Given the description of an element on the screen output the (x, y) to click on. 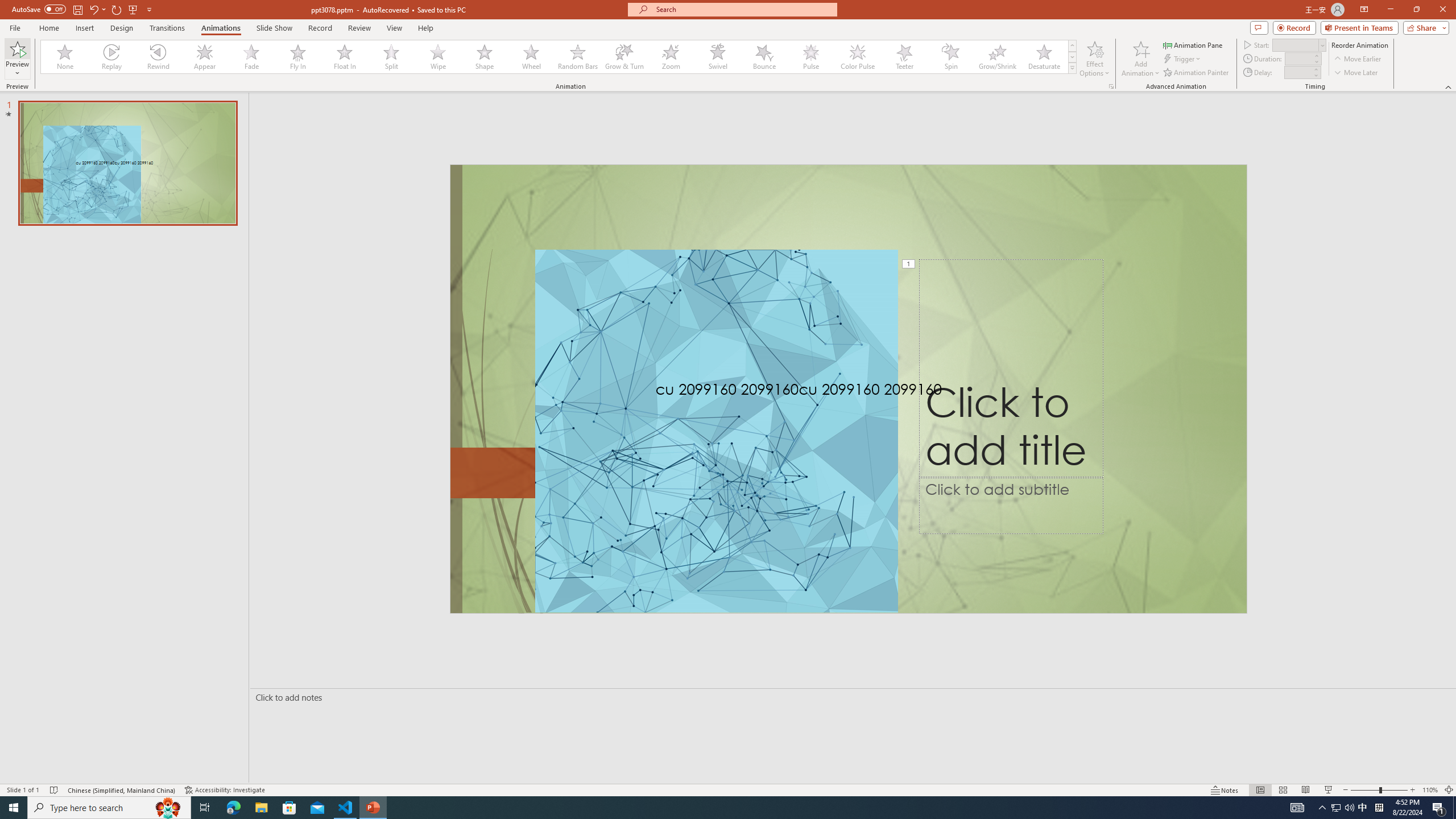
Animation Pane (1193, 44)
